Given the description of an element on the screen output the (x, y) to click on. 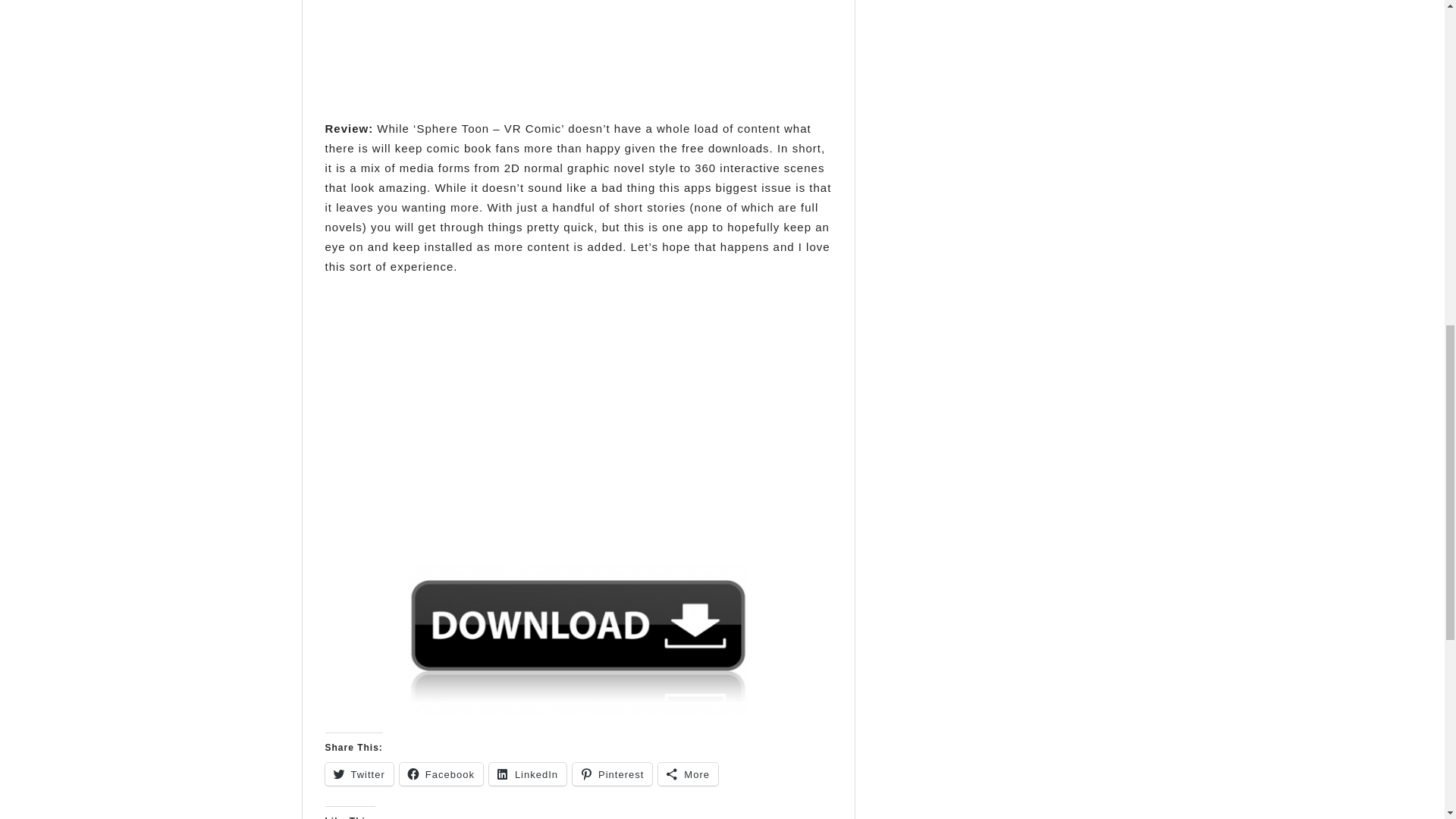
Click to share on LinkedIn (527, 773)
Click to share on Twitter (358, 773)
Click to share on Facebook (440, 773)
Click to share on Pinterest (612, 773)
Advertisement (577, 49)
